Given the description of an element on the screen output the (x, y) to click on. 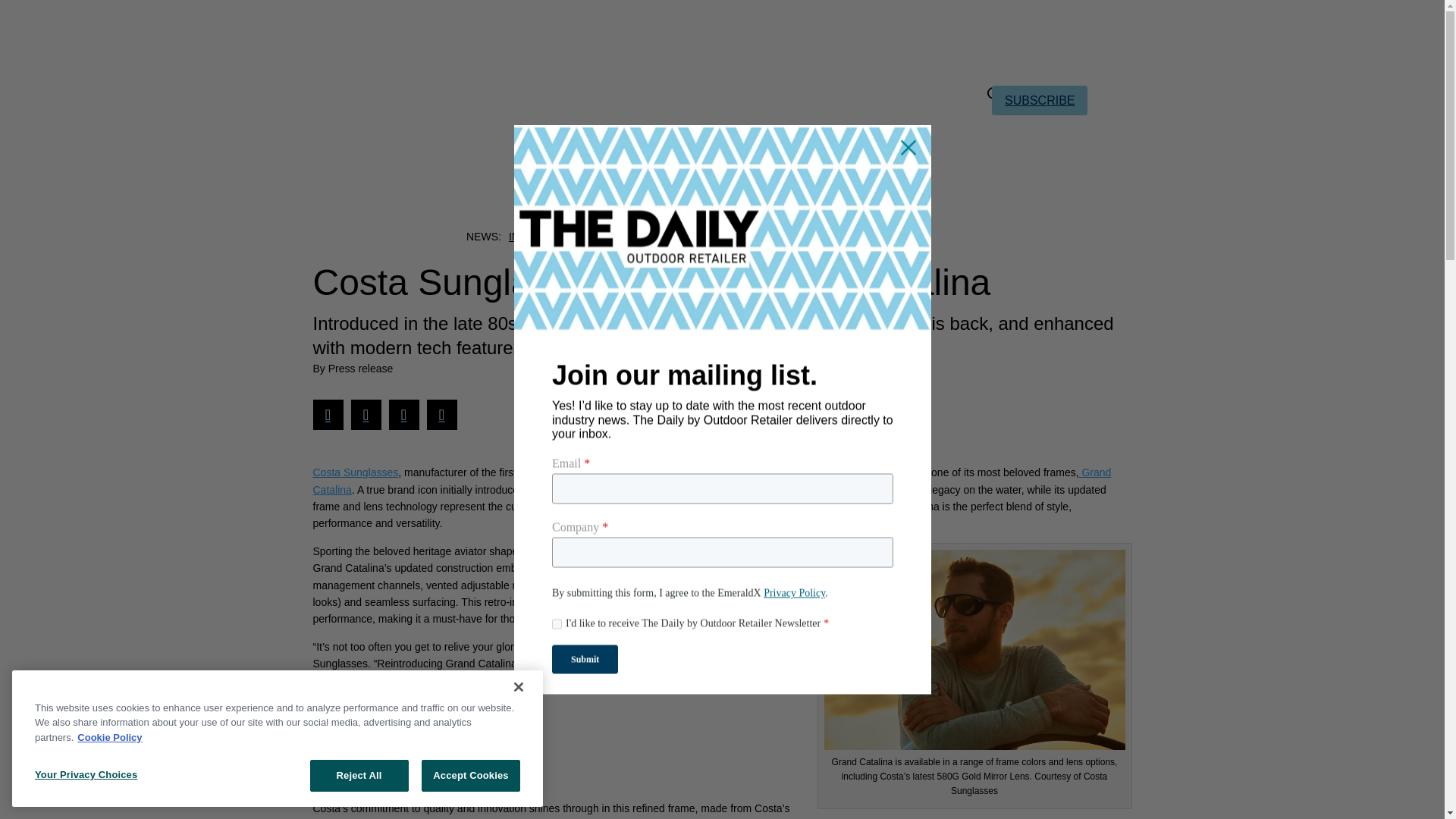
News (587, 173)
3rd party ad content (721, 41)
icons8-search-new-svg (995, 94)
Gear (645, 173)
CARD 15 247 (974, 650)
3rd party ad content (424, 750)
SUBSCRIBE (1039, 100)
